Given the description of an element on the screen output the (x, y) to click on. 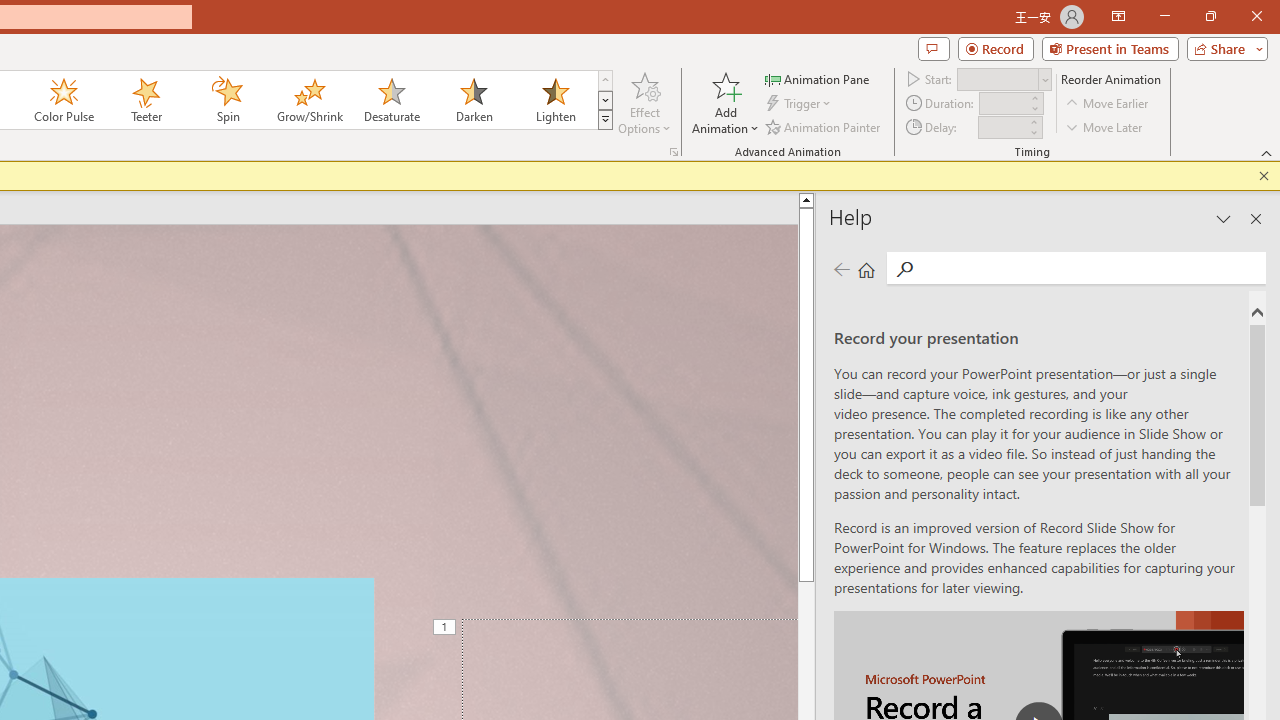
Add Animation (725, 102)
Trigger (799, 103)
More Options... (673, 151)
Grow/Shrink (309, 100)
Desaturate (391, 100)
Effect Options (644, 102)
Animation, sequence 1, on Title 1 (445, 628)
Animation Duration (1003, 103)
Lighten (555, 100)
